Given the description of an element on the screen output the (x, y) to click on. 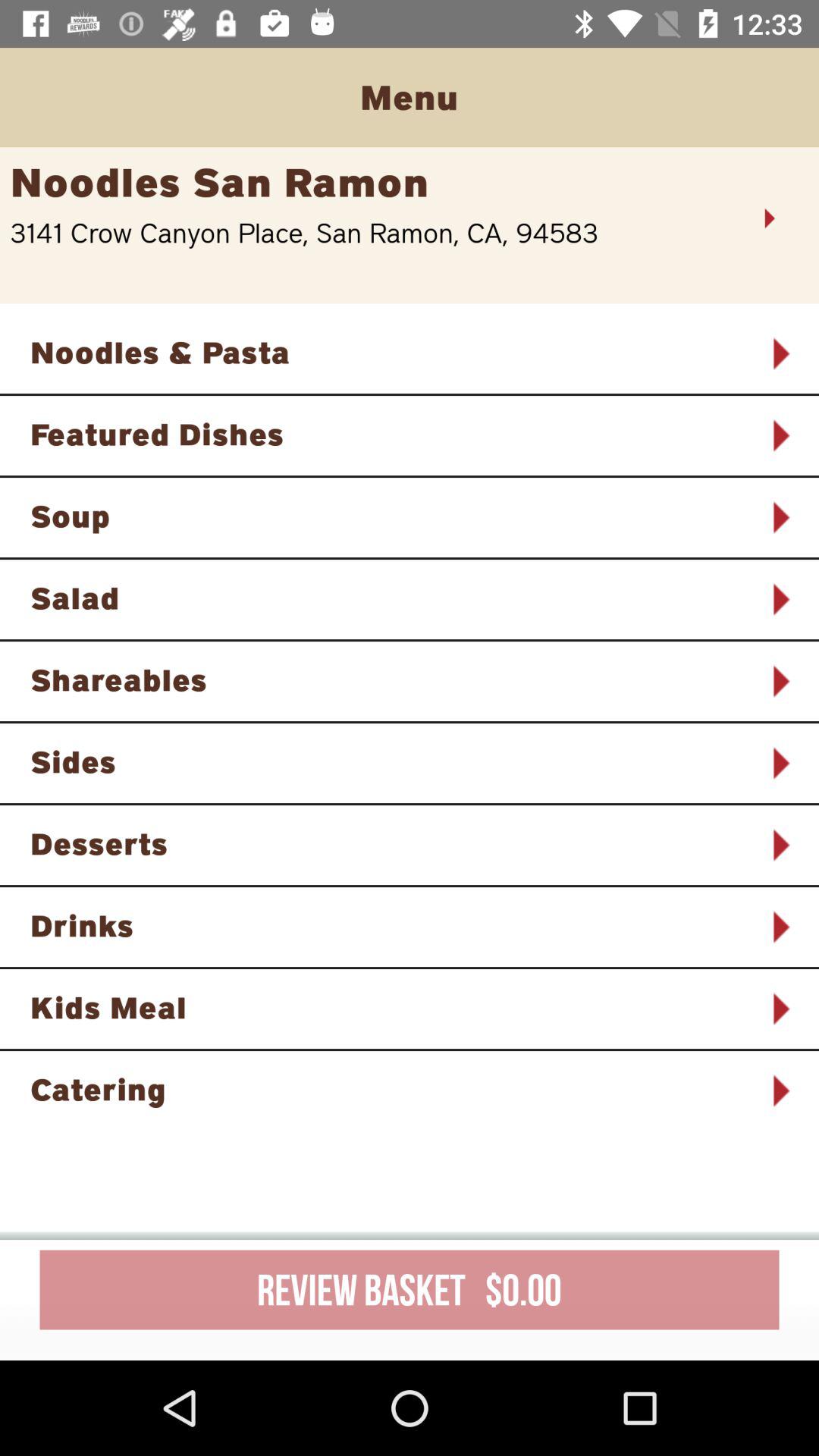
click item to the right of shareables  icon (779, 681)
